Given the description of an element on the screen output the (x, y) to click on. 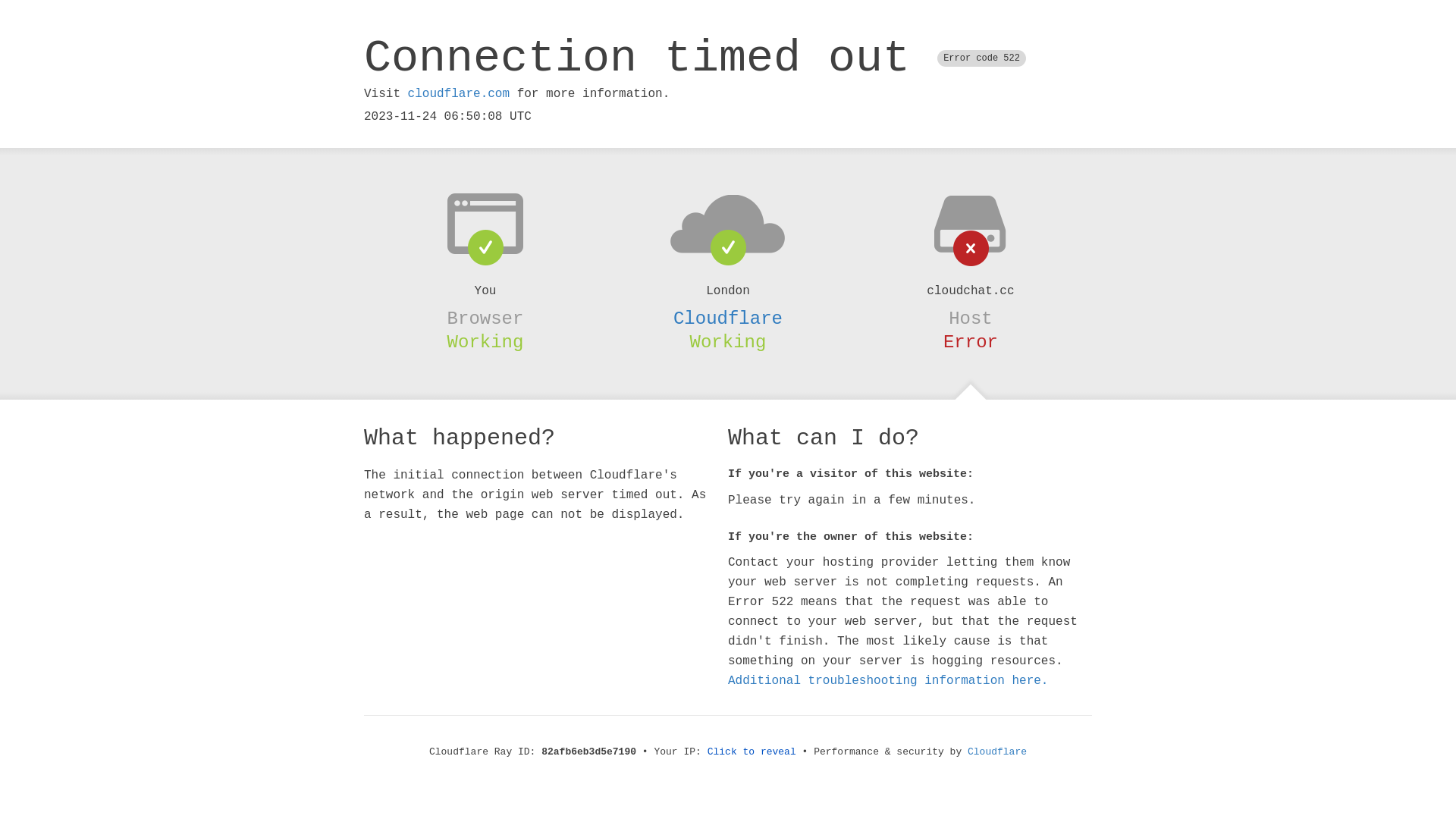
Additional troubleshooting information here. Element type: text (888, 680)
cloudflare.com Element type: text (458, 93)
Cloudflare Element type: text (996, 751)
Cloudflare Element type: text (727, 318)
Click to reveal Element type: text (751, 751)
